Given the description of an element on the screen output the (x, y) to click on. 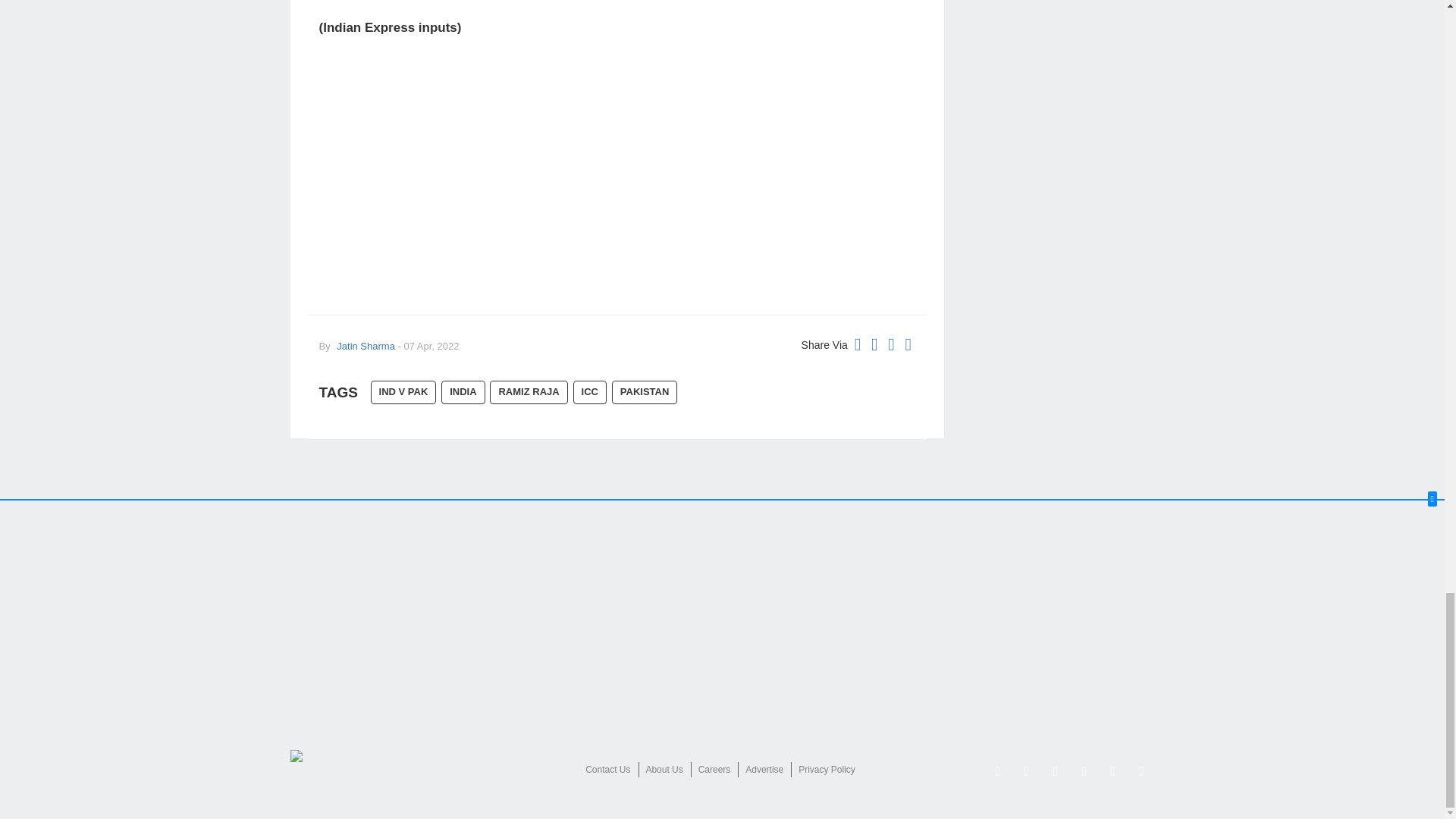
Facebook (1055, 770)
Instagram (1083, 770)
Advertisement (617, 178)
Jatin Sharma (364, 346)
Facebook (1026, 770)
Youtube (1112, 770)
Twitter (997, 770)
